Given the description of an element on the screen output the (x, y) to click on. 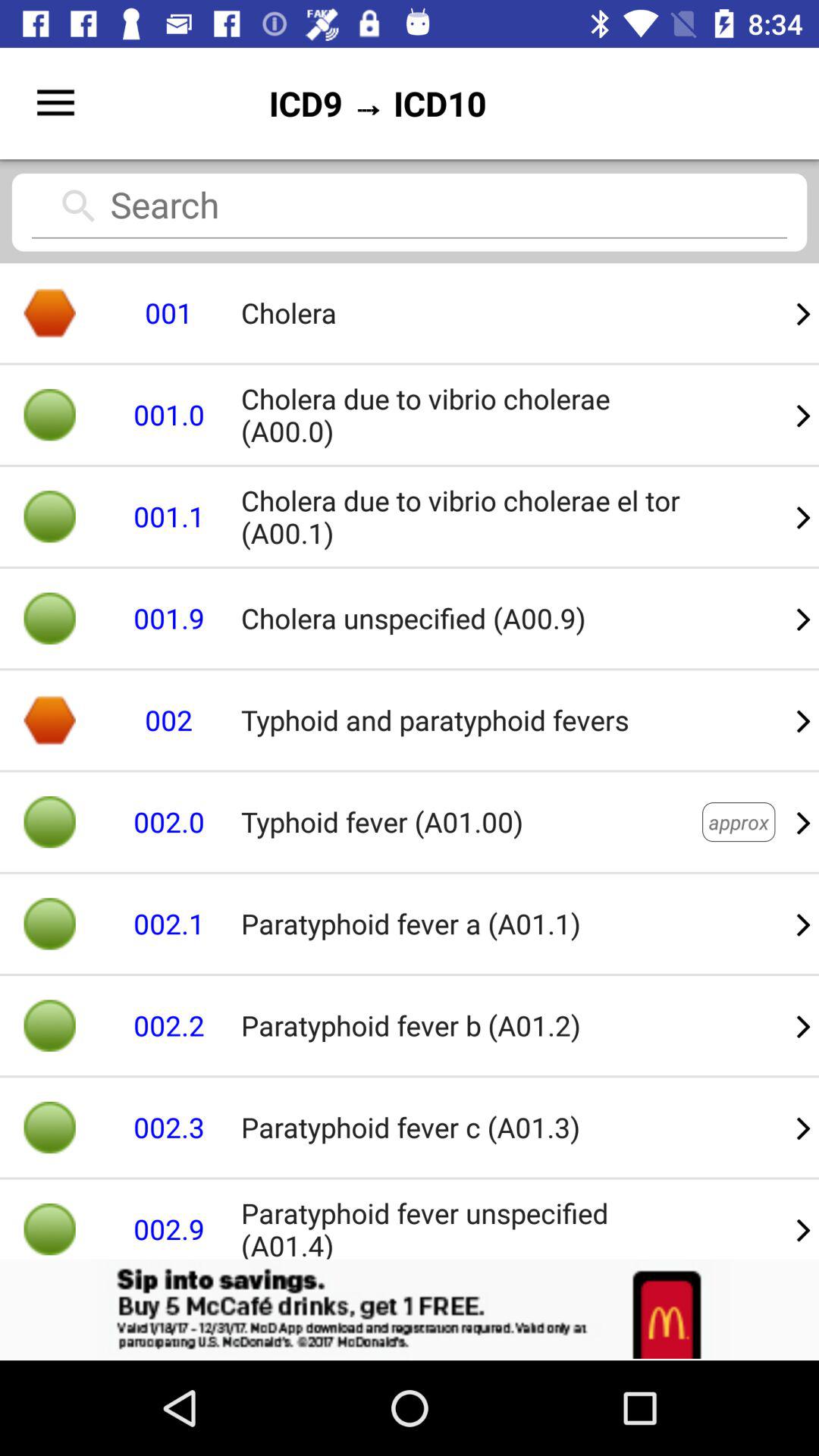
sip into savings buy 5 mcafe drinks get 1 free (409, 1309)
